Given the description of an element on the screen output the (x, y) to click on. 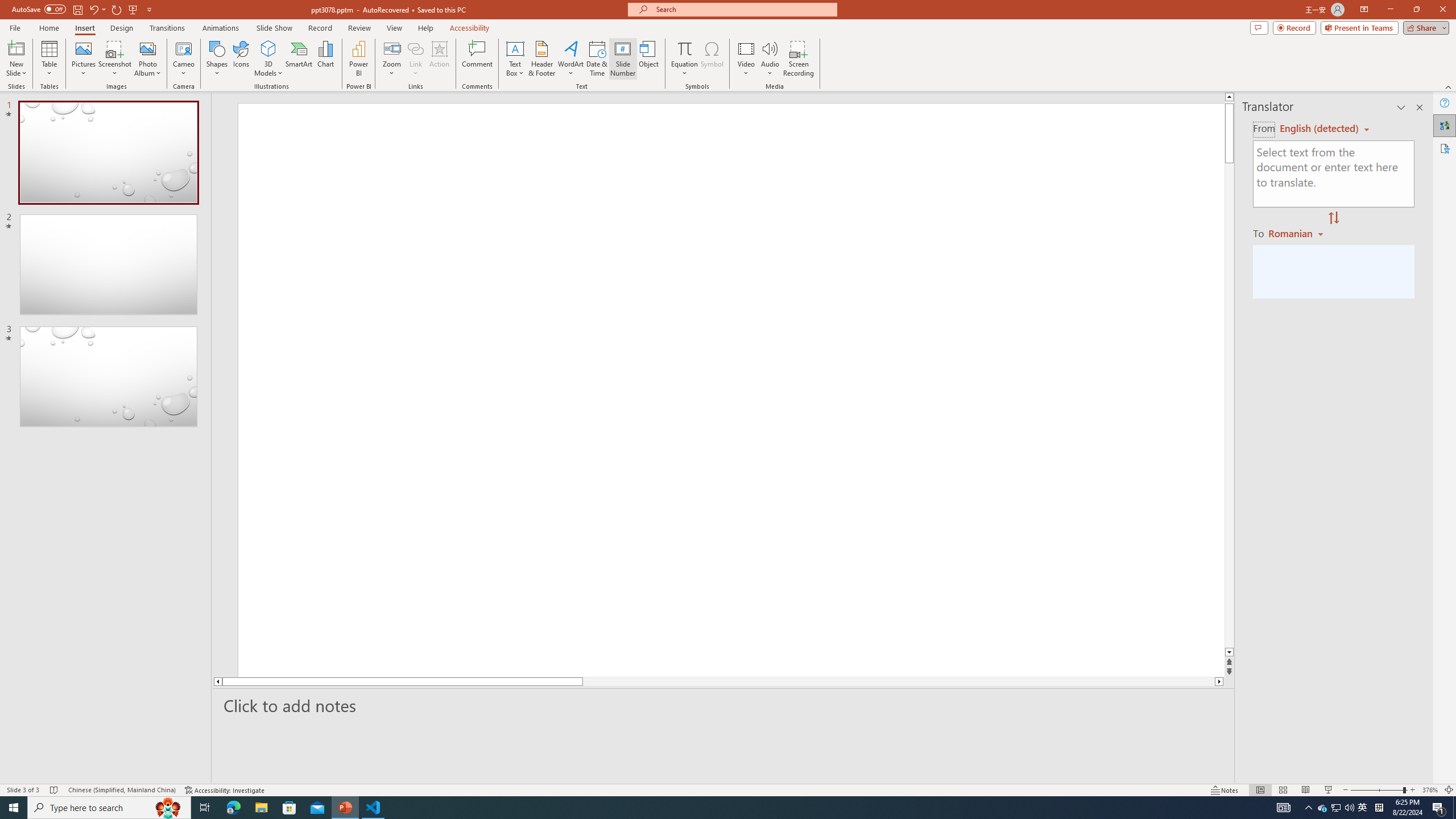
Header & Footer... (541, 58)
Screen Recording... (798, 58)
